Given the description of an element on the screen output the (x, y) to click on. 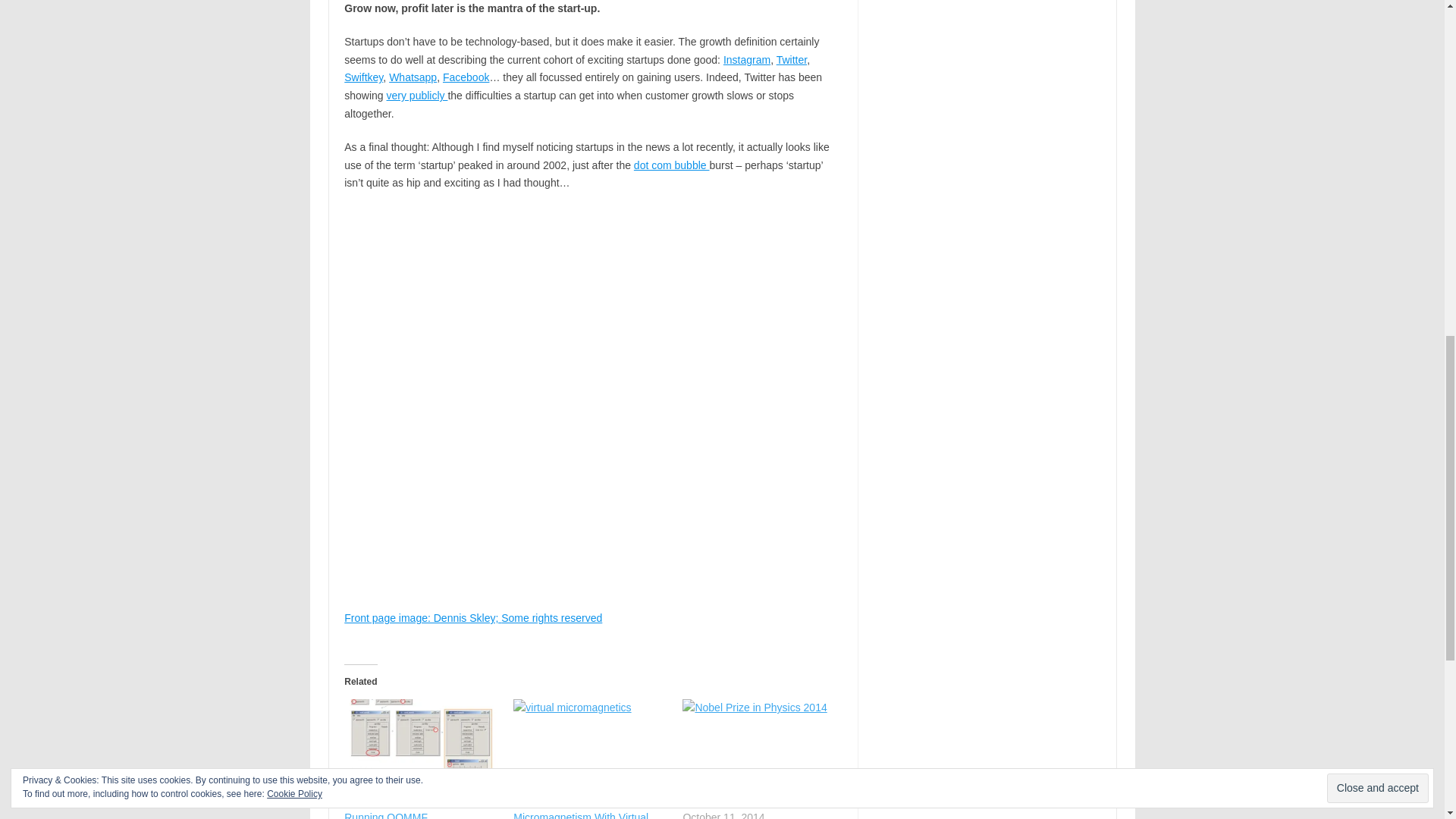
dot com bubble (671, 164)
Instagram (746, 60)
Some rights reserved (551, 617)
Whatsapp (412, 77)
Front page image: Dennis Skley; (421, 617)
Advertisement (592, 730)
Facebook (465, 77)
very publicly (417, 95)
Go to Dennis Skley's photostream (421, 617)
Twitter (791, 60)
Swiftkey (362, 77)
